Given the description of an element on the screen output the (x, y) to click on. 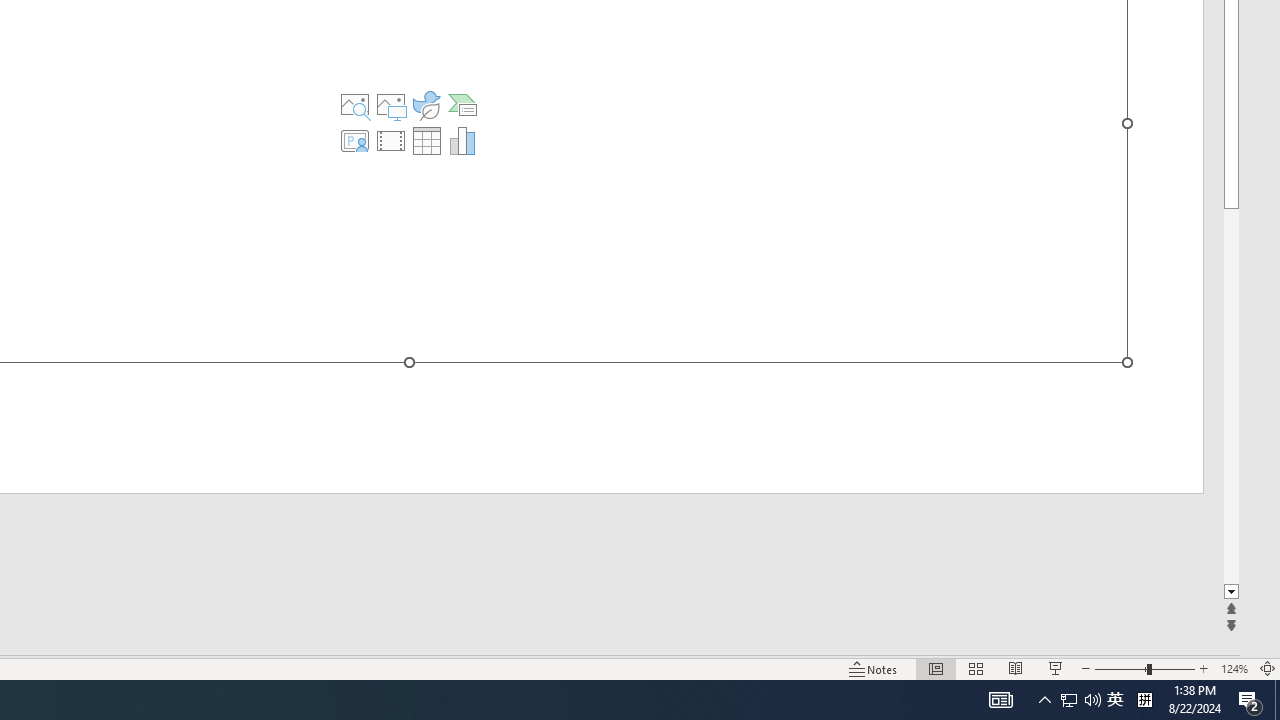
Insert Chart (462, 140)
